Given the description of an element on the screen output the (x, y) to click on. 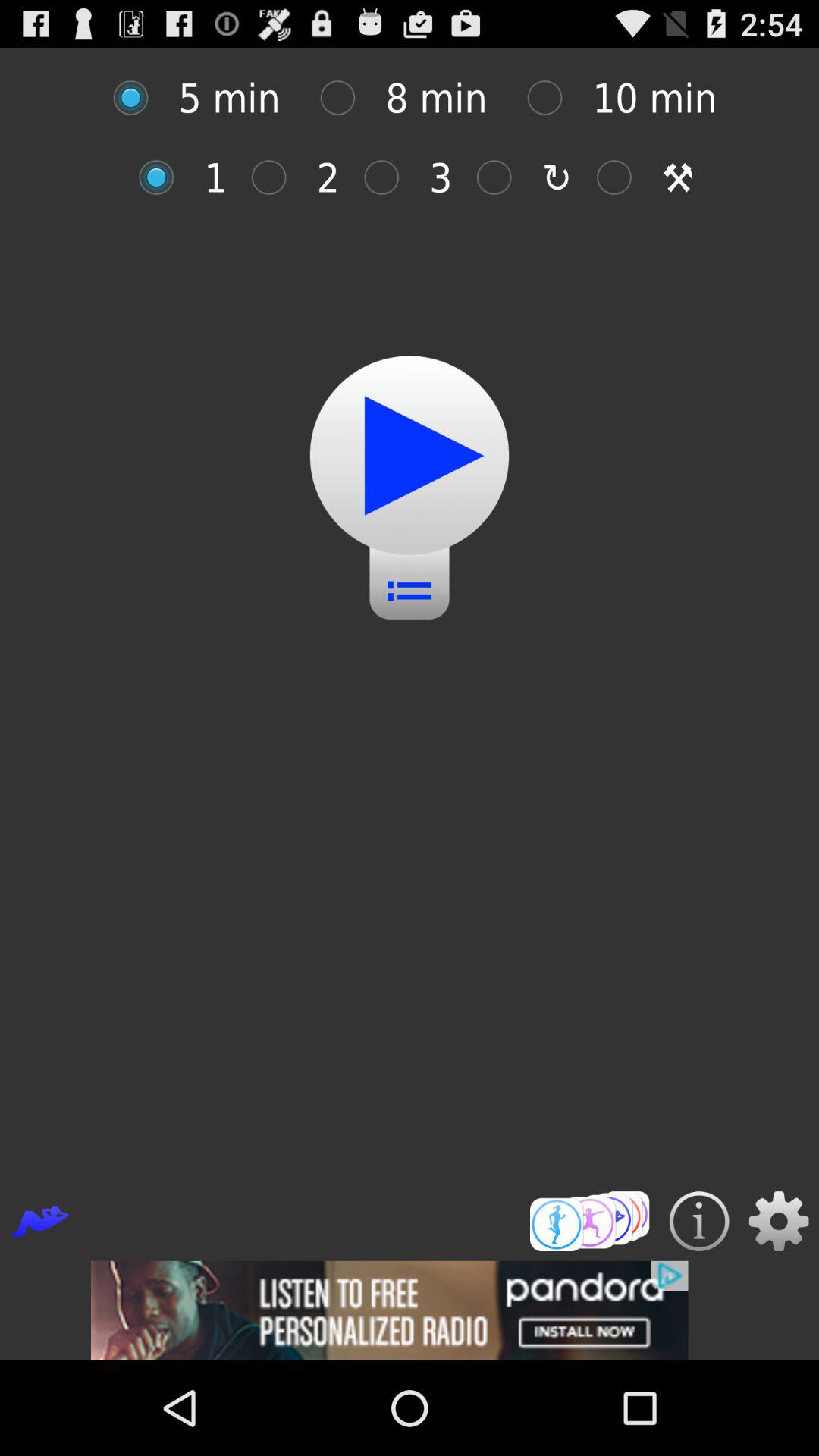
select button (389, 177)
